Given the description of an element on the screen output the (x, y) to click on. 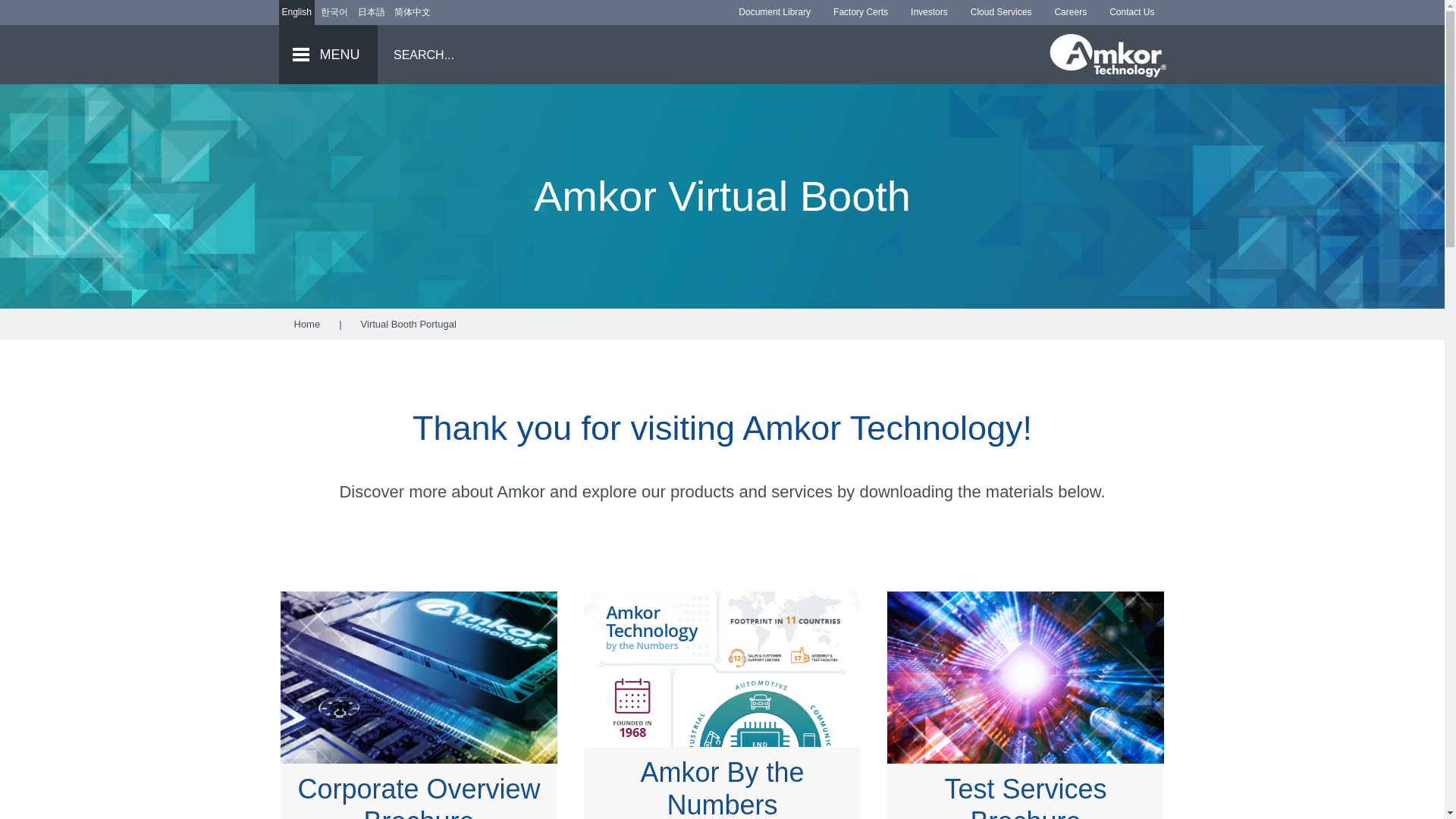
Home (307, 324)
Contact Us (1131, 12)
English (296, 12)
Japanese (371, 12)
Cloud Services (1001, 12)
Investors (929, 12)
Document Library (774, 12)
Korean (333, 12)
Careers (1069, 12)
Chinese (412, 12)
